Given the description of an element on the screen output the (x, y) to click on. 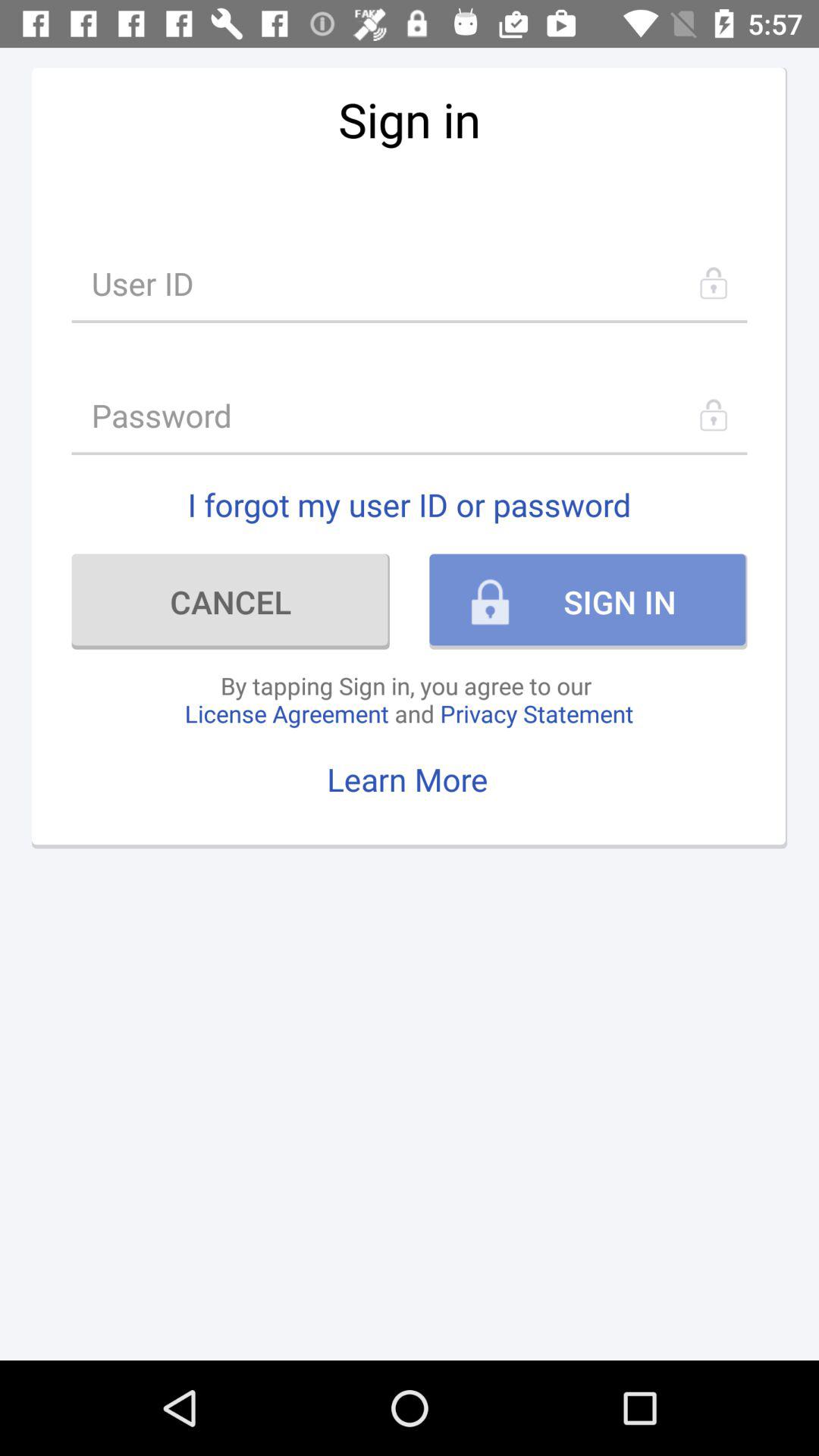
launch the item above by tapping sign icon (230, 601)
